Given the description of an element on the screen output the (x, y) to click on. 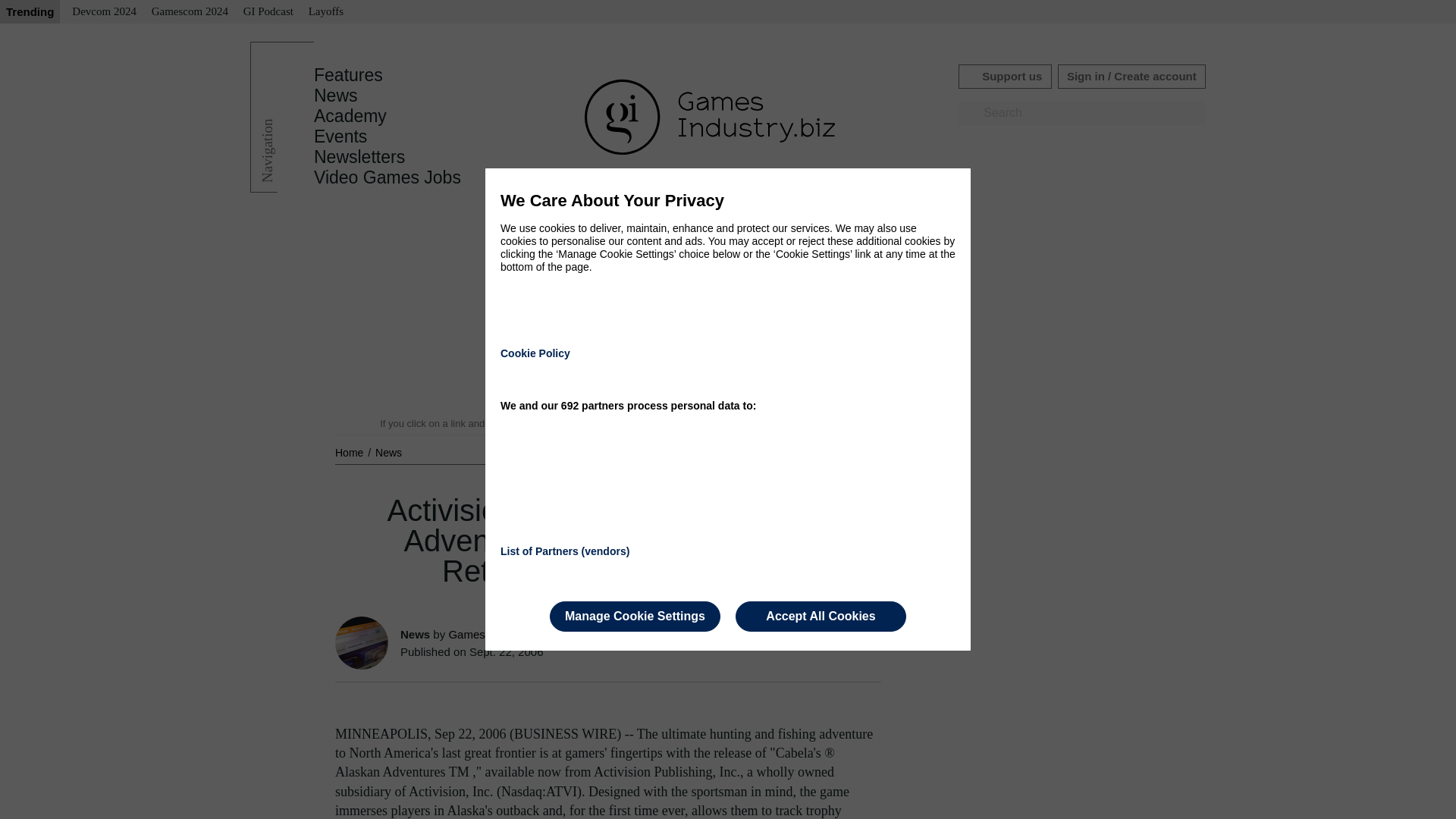
News (388, 452)
News (336, 95)
GamesIndustry.biz (494, 634)
Newsletters (359, 157)
GI Podcast (268, 11)
Newsletters (359, 157)
Devcom 2024 (103, 11)
Home (350, 452)
Gamescom 2024 (189, 11)
Events (340, 136)
